Given the description of an element on the screen output the (x, y) to click on. 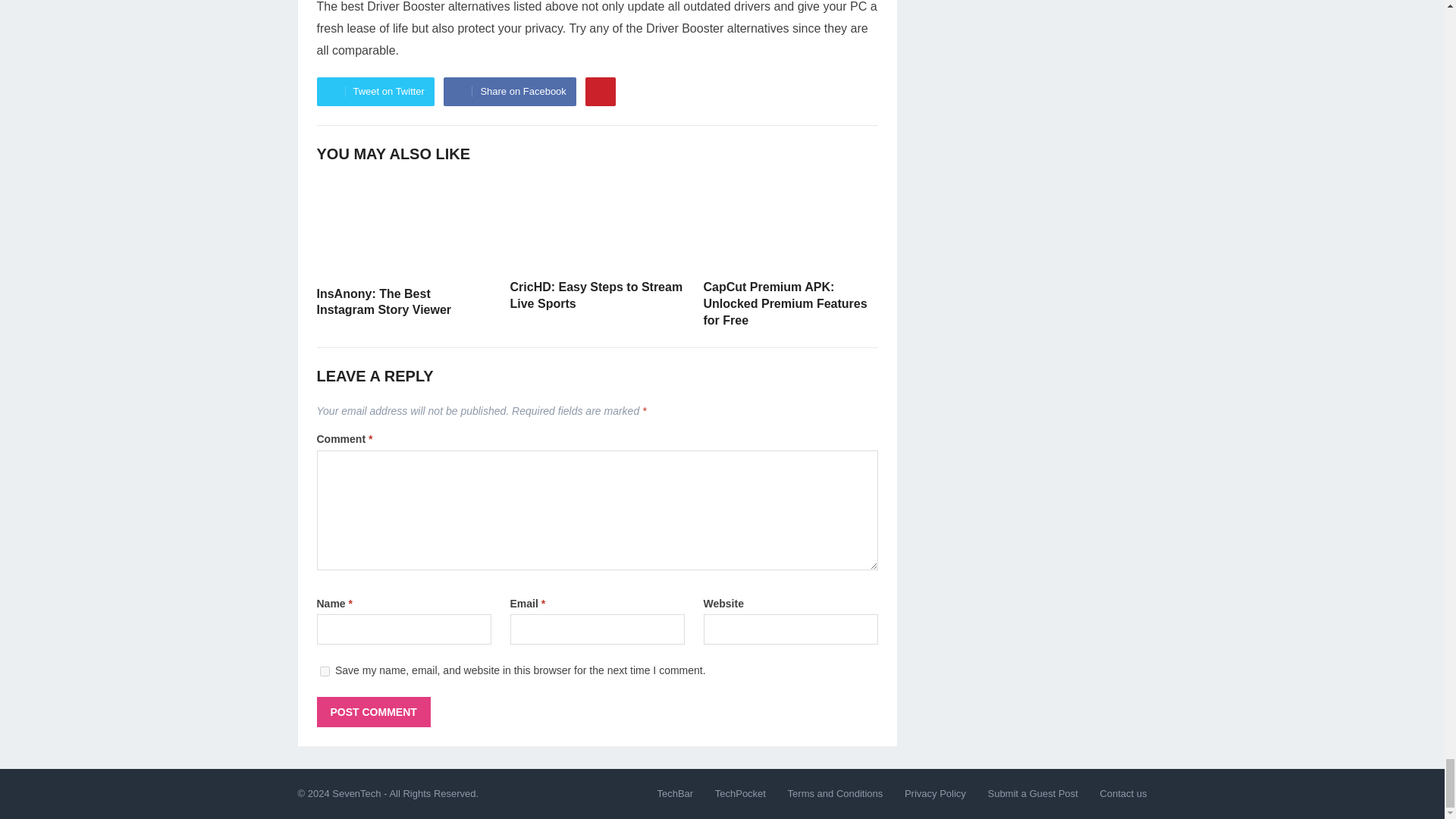
Share on Facebook (509, 91)
Tweet on Twitter (375, 91)
InsAnony: The Best Instagram Story Viewer (384, 301)
Pinterest (600, 91)
yes (325, 671)
Post Comment (373, 711)
